Given the description of an element on the screen output the (x, y) to click on. 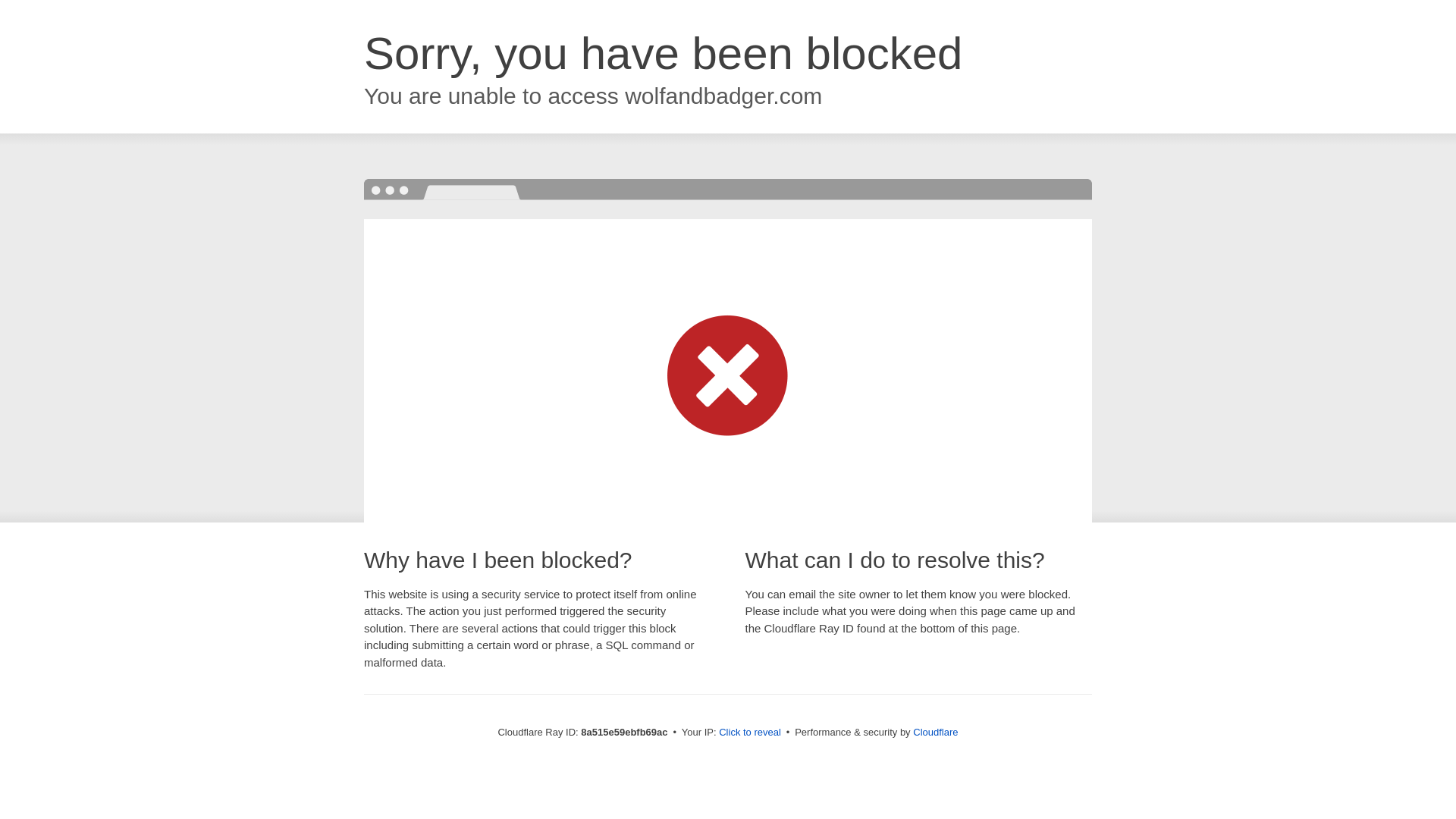
Cloudflare (935, 731)
Click to reveal (749, 732)
